Given the description of an element on the screen output the (x, y) to click on. 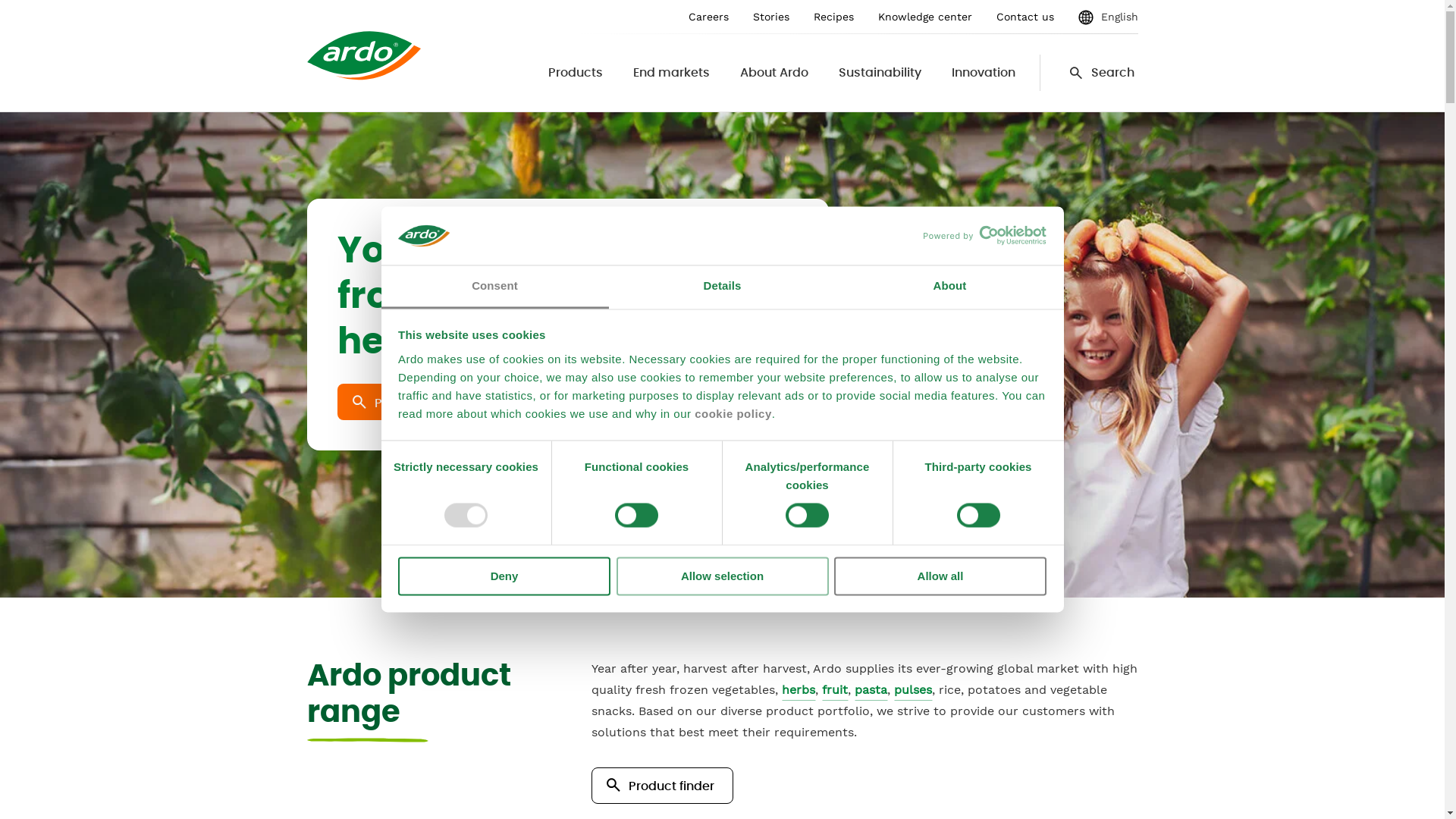
Allow all Element type: text (940, 575)
Homepage Ardo
Ardo Element type: text (363, 55)
Consent Element type: text (494, 286)
Contact us Element type: text (1025, 17)
fruit Element type: text (834, 690)
Recipes Element type: text (832, 17)
Stories Element type: text (770, 17)
About Element type: text (949, 286)
End markets Element type: text (670, 73)
Careers Element type: text (708, 17)
herbs Element type: text (798, 690)
pasta Element type: text (870, 690)
cookie policy Element type: text (732, 413)
Skip to main content Element type: text (0, 0)
Details Element type: text (721, 286)
Allow selection Element type: text (721, 575)
Deny Element type: text (504, 575)
Knowledge center Element type: text (925, 17)
Search Element type: text (1085, 72)
Innovation Element type: text (982, 73)
Products Element type: text (574, 73)
pulses Element type: text (912, 690)
About Ardo Element type: text (774, 73)
Global English
English Element type: text (1108, 17)
Product finder Element type: text (662, 785)
Sustainability Element type: text (879, 73)
Product Finder Element type: text (408, 401)
